Given the description of an element on the screen output the (x, y) to click on. 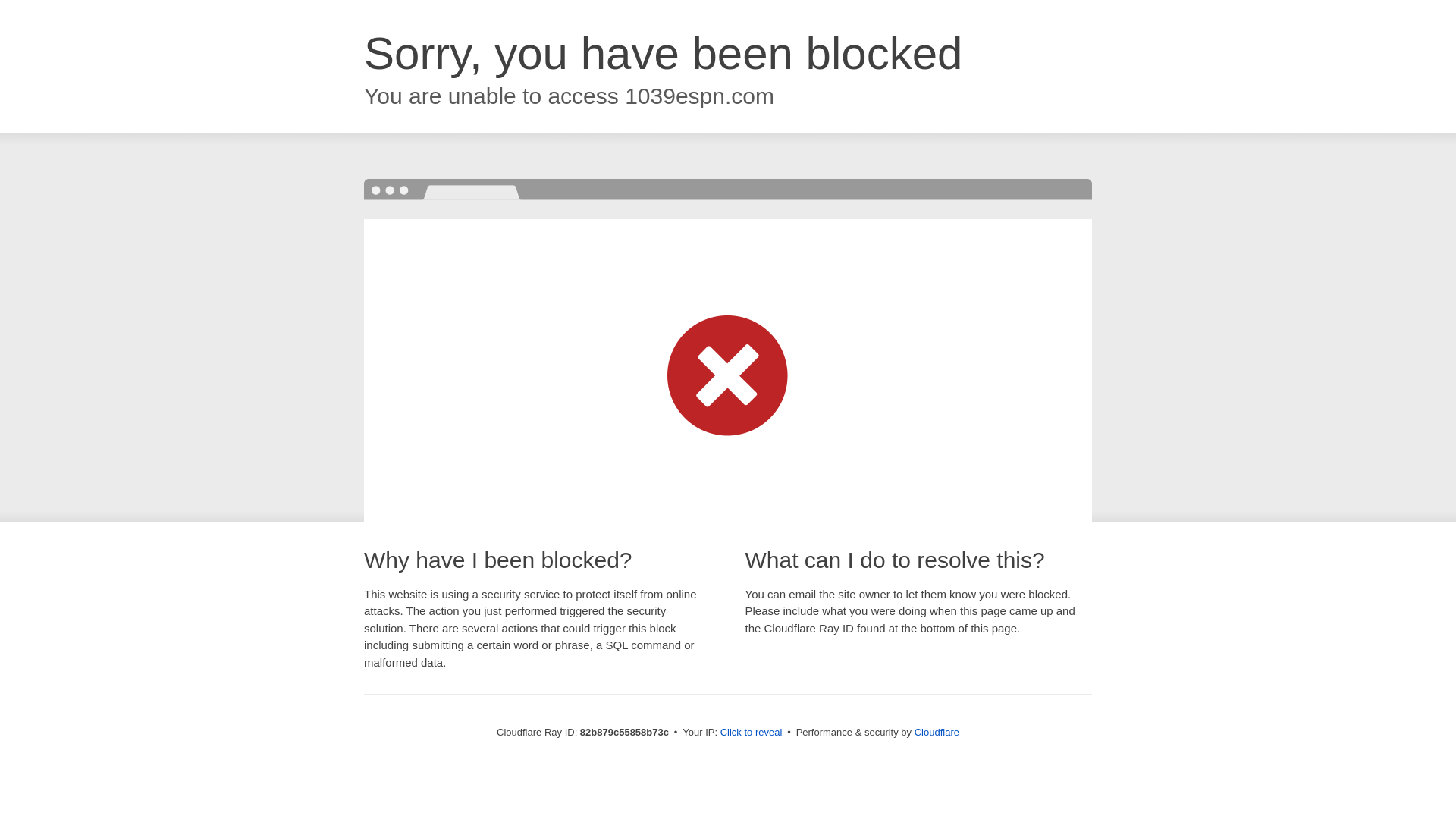
Click to reveal Element type: text (751, 732)
Cloudflare Element type: text (936, 731)
